Given the description of an element on the screen output the (x, y) to click on. 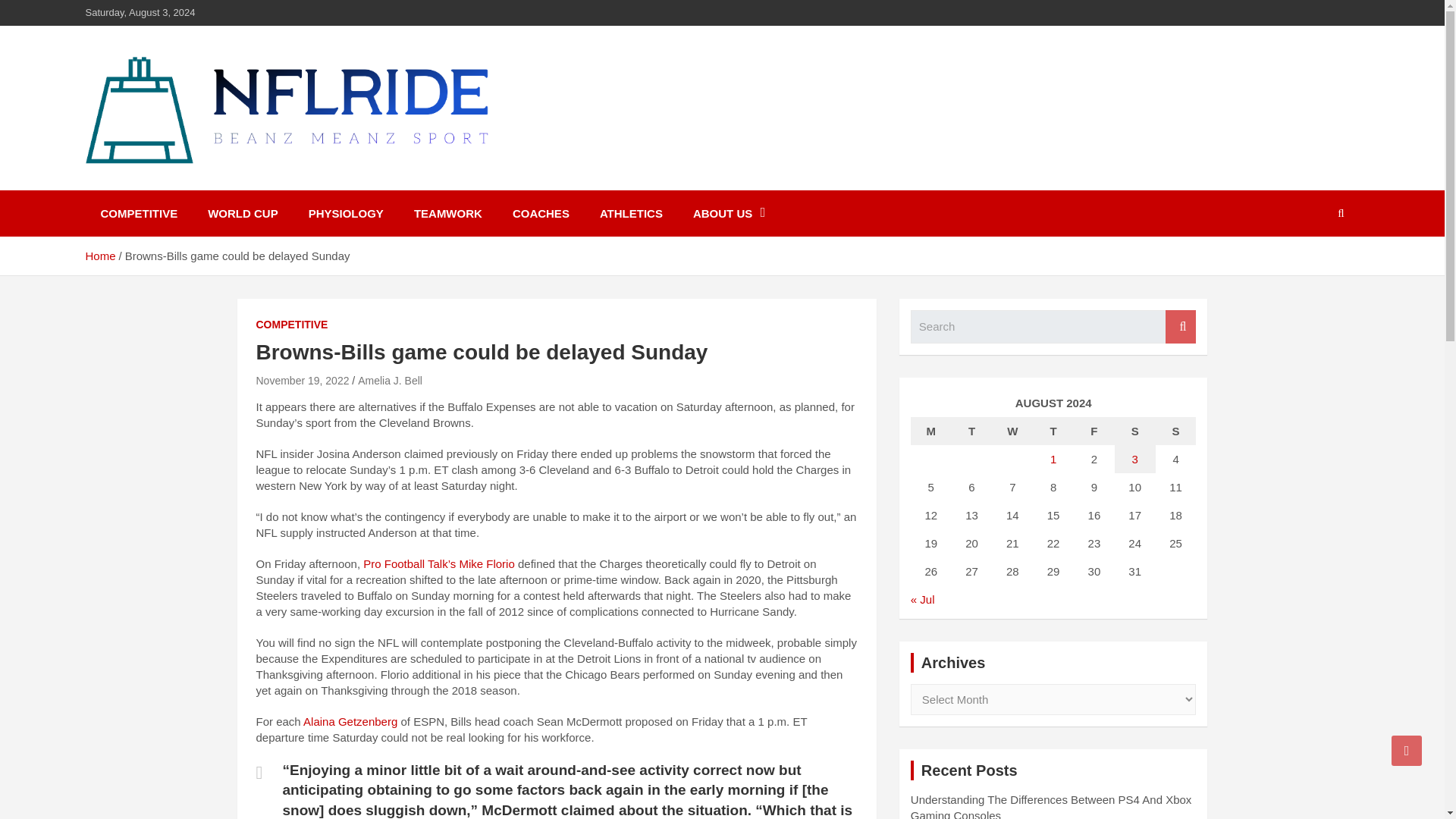
PHYSIOLOGY (346, 213)
COMPETITIVE (138, 213)
Wednesday (1011, 430)
COMPETITIVE (292, 324)
Alaina Getzenberg (349, 720)
Nflride (132, 186)
Home (99, 255)
Amelia J. Bell (390, 380)
ATHLETICS (631, 213)
Sunday (1176, 430)
Thursday (1053, 430)
ABOUT US (729, 213)
COACHES (541, 213)
Browns-Bills game could be delayed Sunday (302, 380)
